Given the description of an element on the screen output the (x, y) to click on. 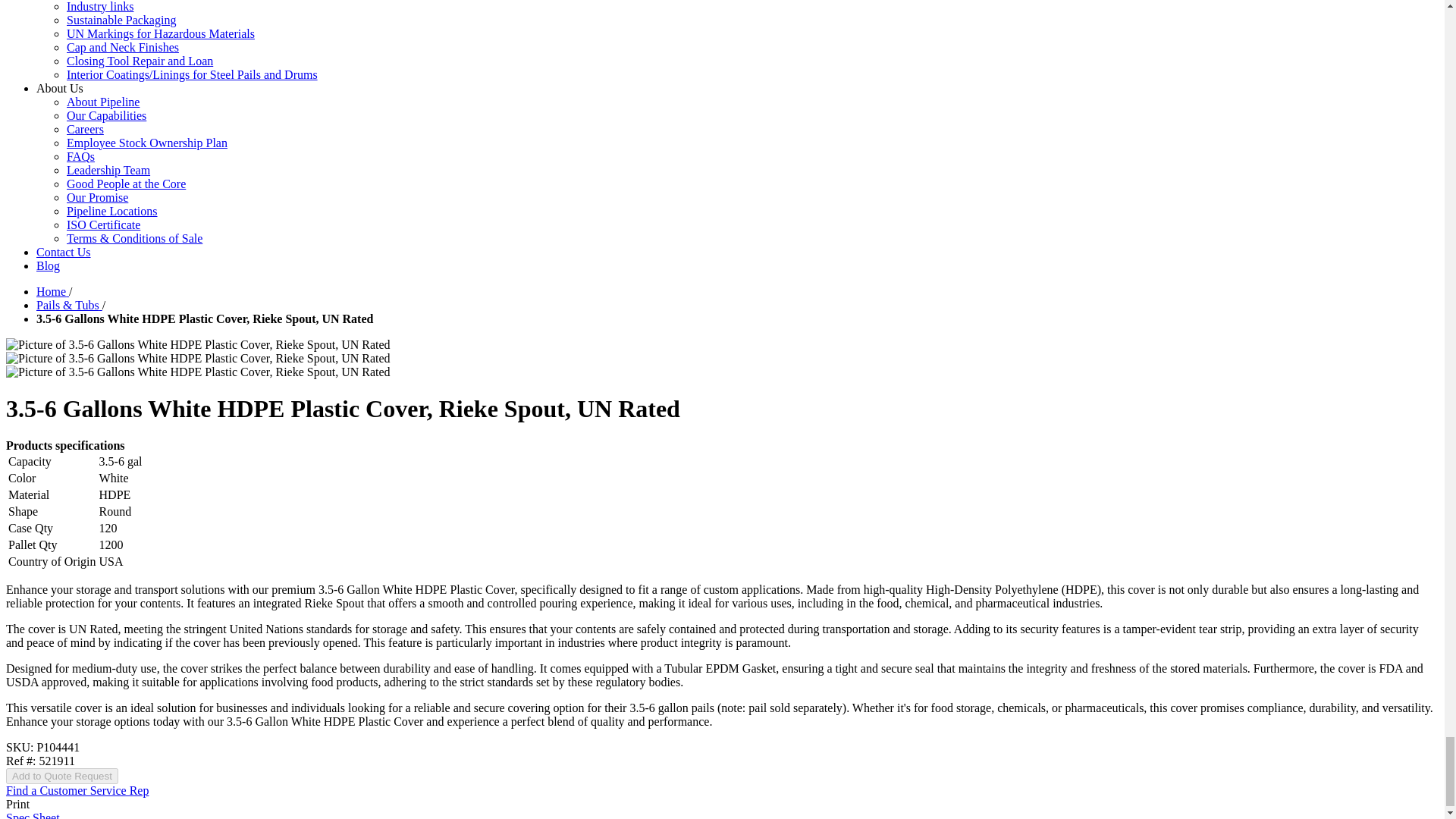
Add to Quote Request (61, 775)
